Given the description of an element on the screen output the (x, y) to click on. 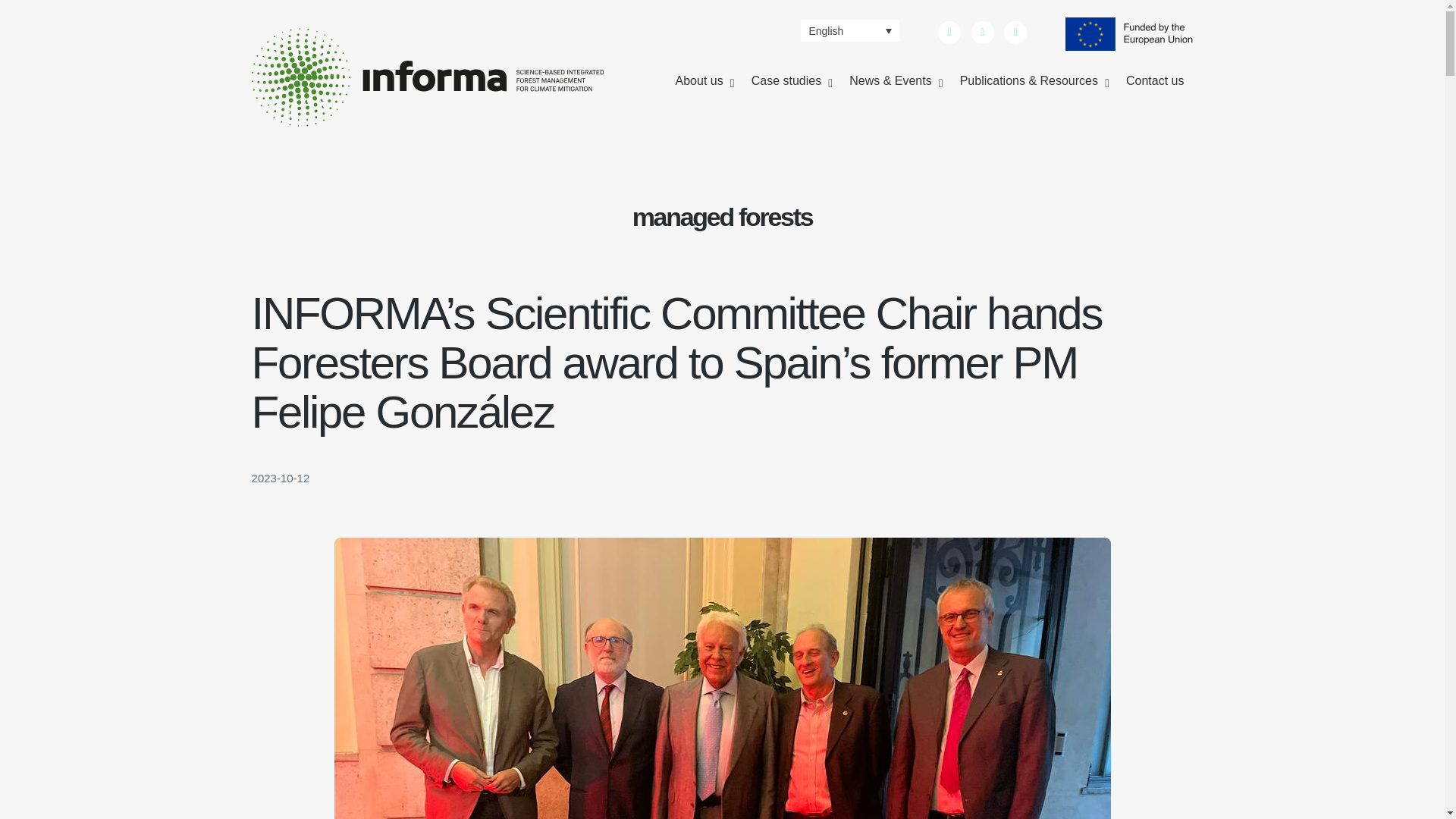
About us (704, 81)
Contact us (1154, 81)
English (849, 30)
Case studies (791, 81)
Informa Forests (326, 137)
